Given the description of an element on the screen output the (x, y) to click on. 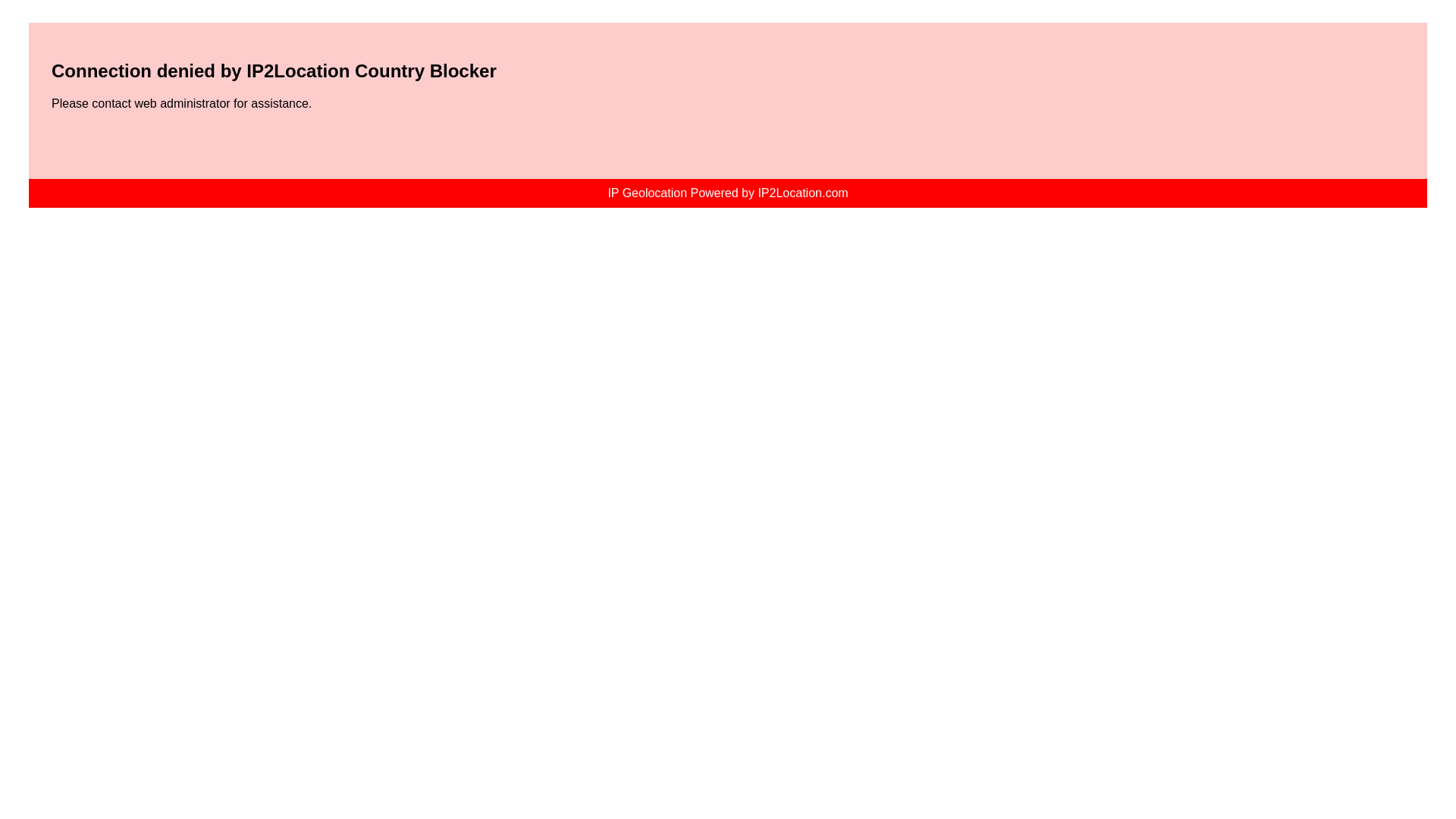
IP Geolocation Powered by IP2Location.com (727, 192)
